Given the description of an element on the screen output the (x, y) to click on. 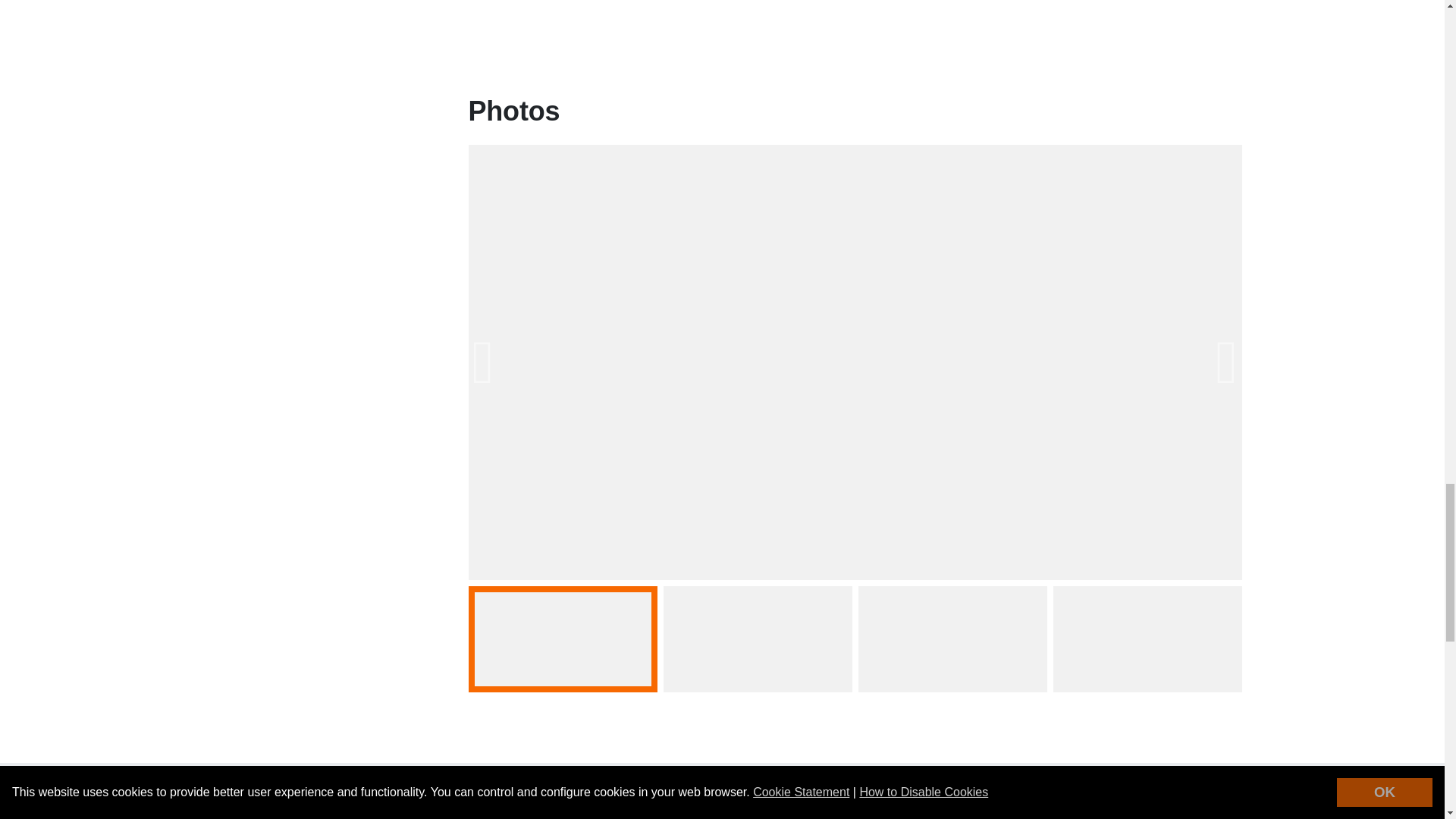
Reports (854, 31)
